Given the description of an element on the screen output the (x, y) to click on. 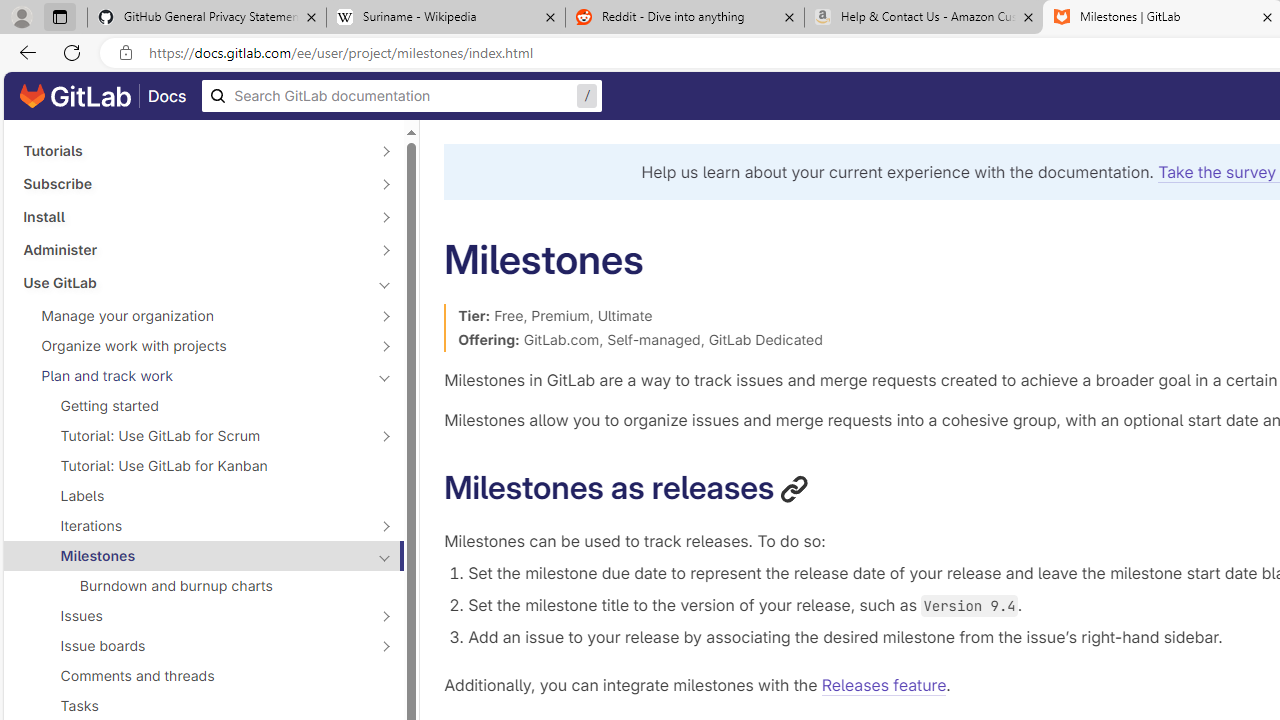
Getting started (203, 405)
/ (402, 95)
Permalink (794, 488)
Tutorials (192, 151)
